Given the description of an element on the screen output the (x, y) to click on. 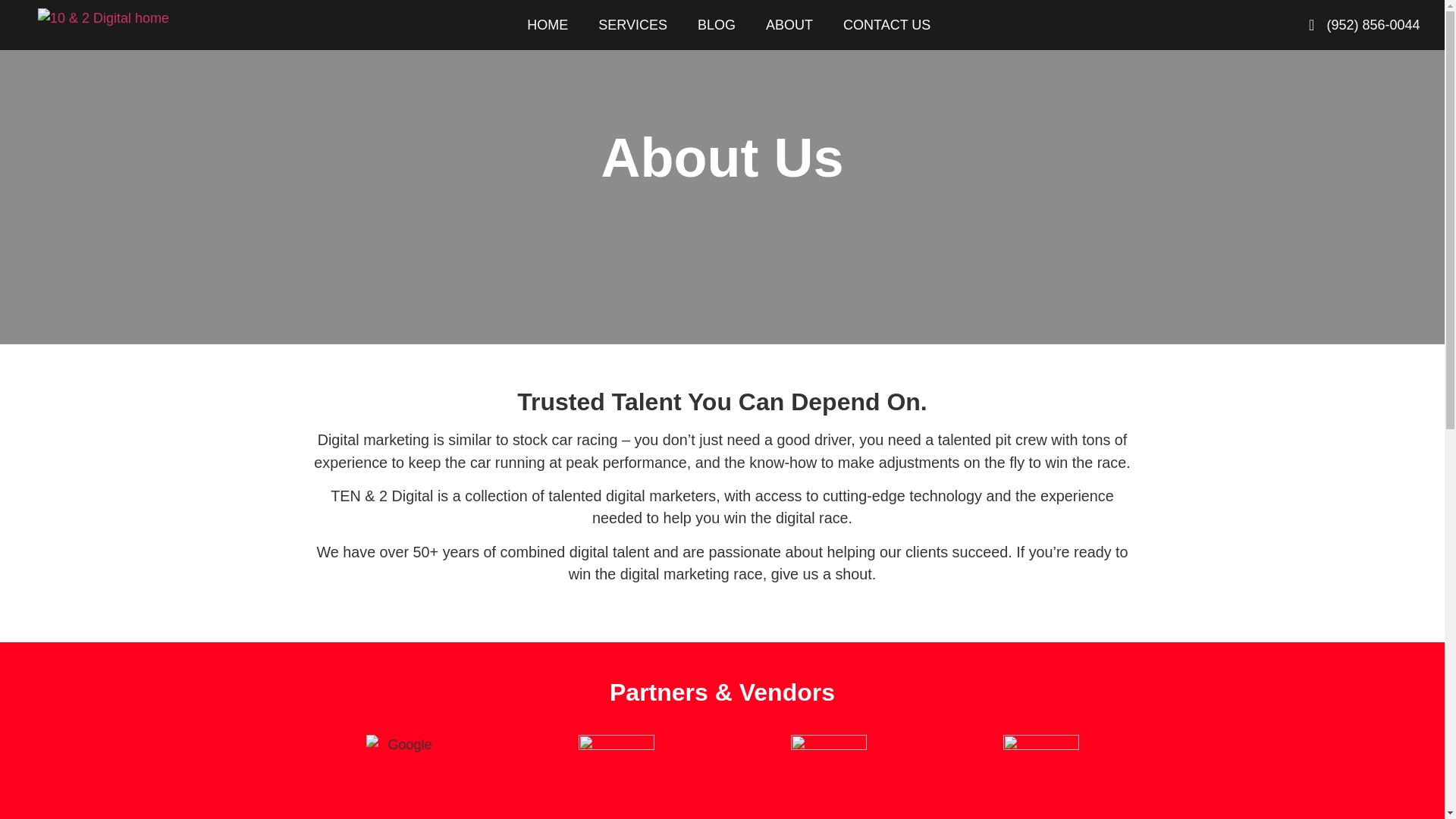
10and2-logo (102, 18)
BLOG (716, 24)
ABOUT (789, 24)
HOME (547, 24)
CONTACT US (886, 24)
SERVICES (632, 24)
